Given the description of an element on the screen output the (x, y) to click on. 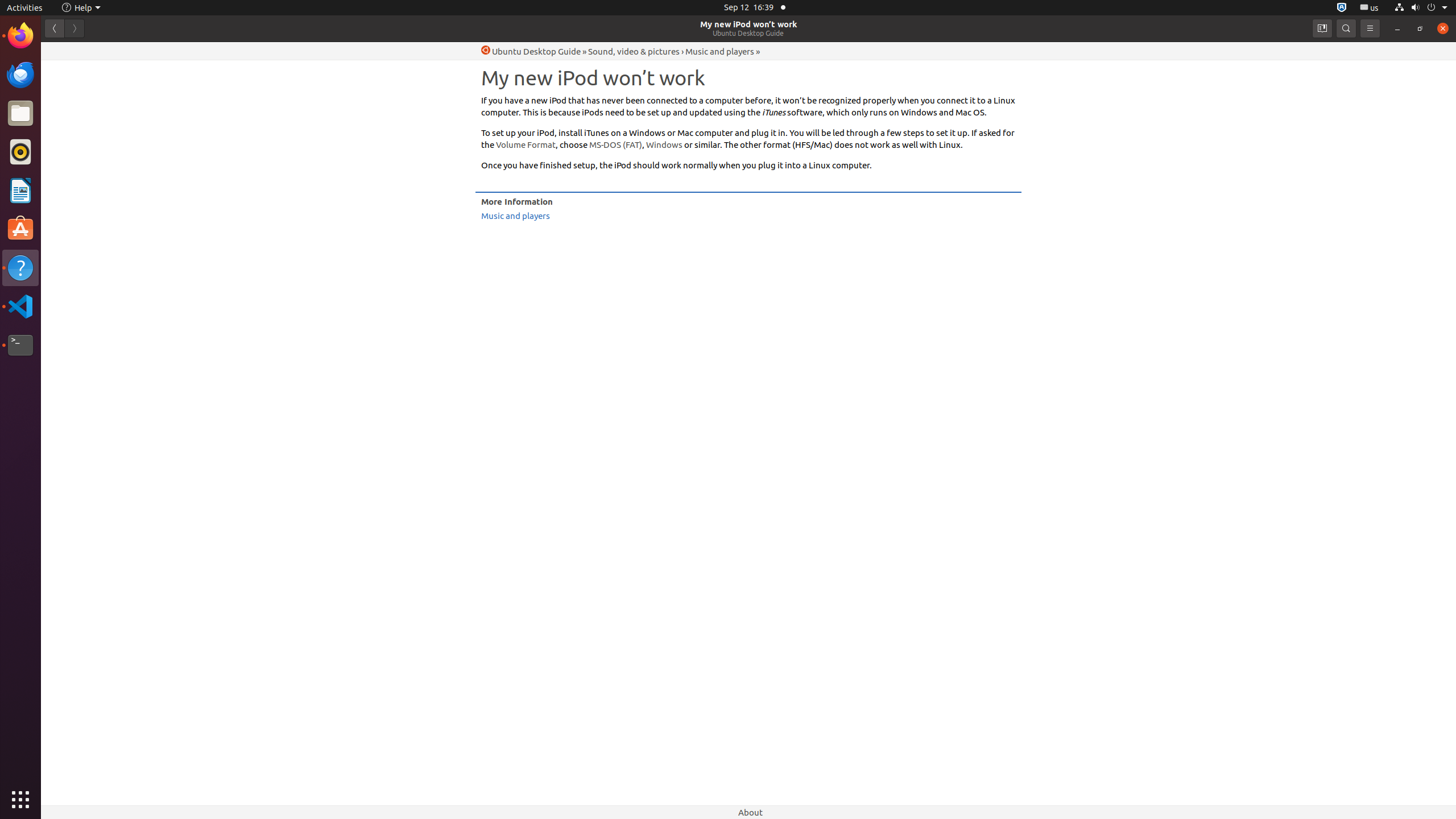
Minimize Element type: push-button (1397, 27)
Ubuntu Desktop Guide Element type: label (748, 33)
Activities Element type: label (24, 7)
Restore Element type: push-button (1419, 27)
Trash Element type: label (75, 108)
